Given the description of an element on the screen output the (x, y) to click on. 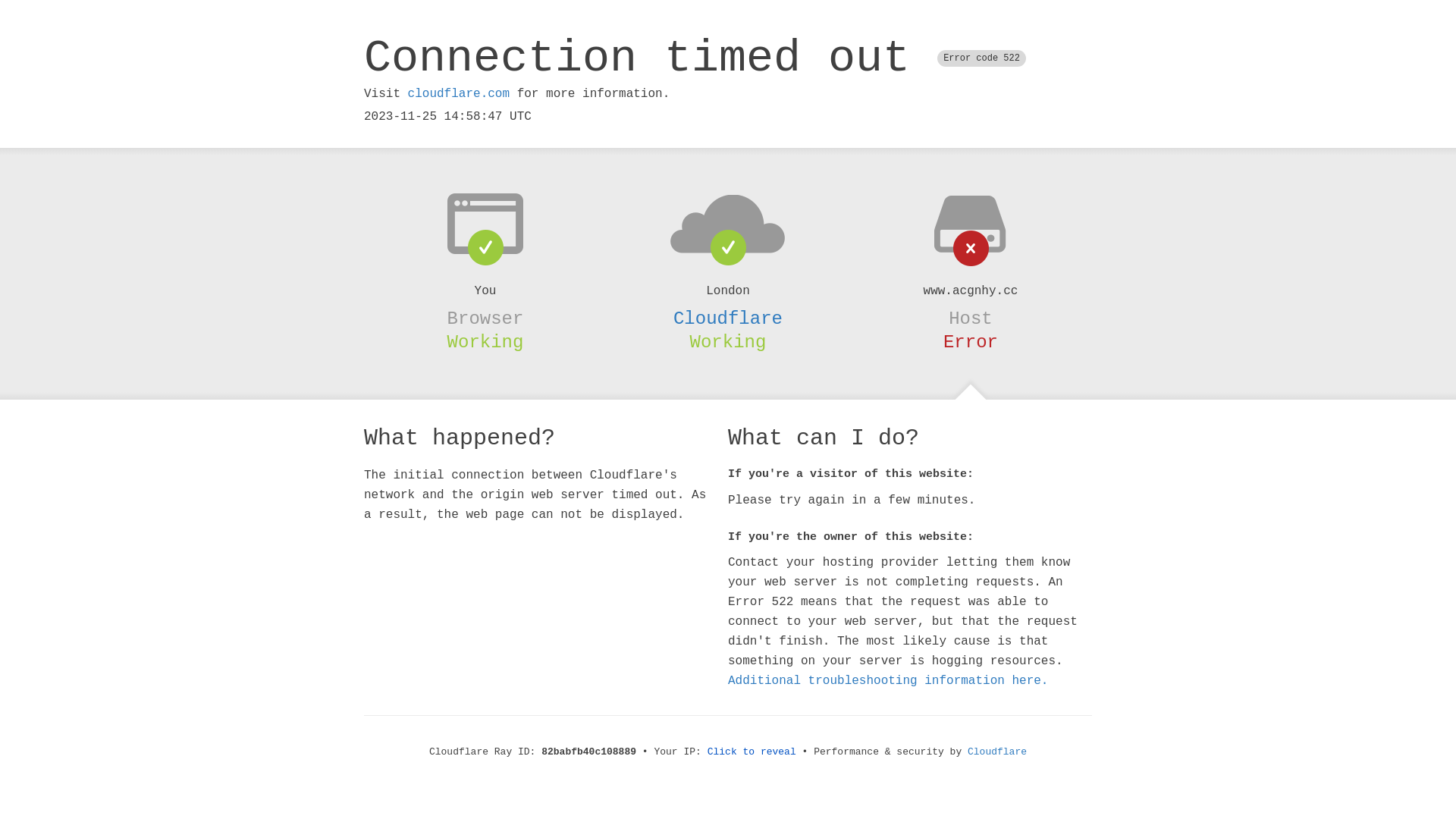
Cloudflare Element type: text (996, 751)
Cloudflare Element type: text (727, 318)
cloudflare.com Element type: text (458, 93)
Click to reveal Element type: text (751, 751)
Additional troubleshooting information here. Element type: text (888, 680)
